Given the description of an element on the screen output the (x, y) to click on. 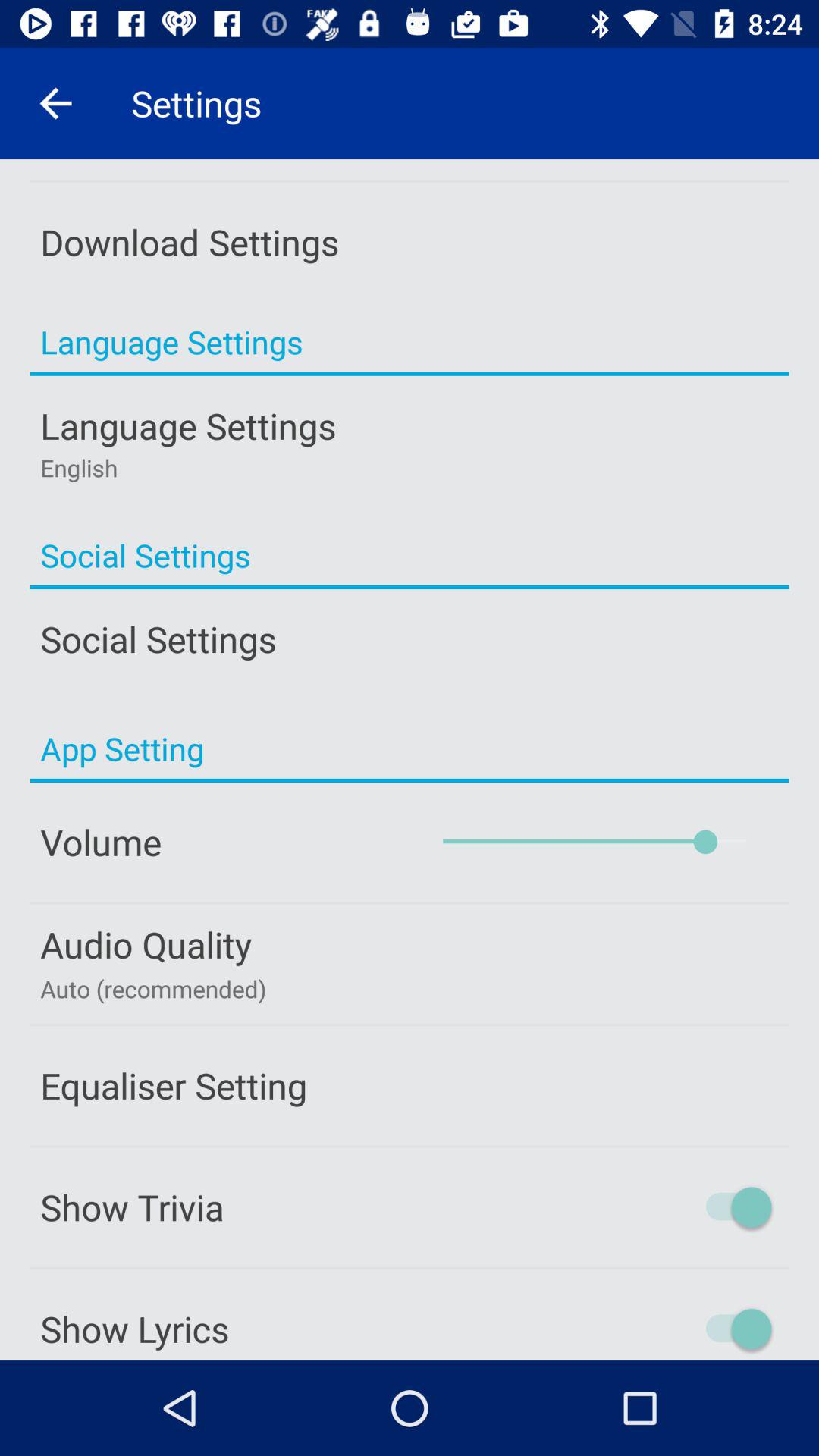
turn off icon to the right of the show trivia item (673, 1207)
